Given the description of an element on the screen output the (x, y) to click on. 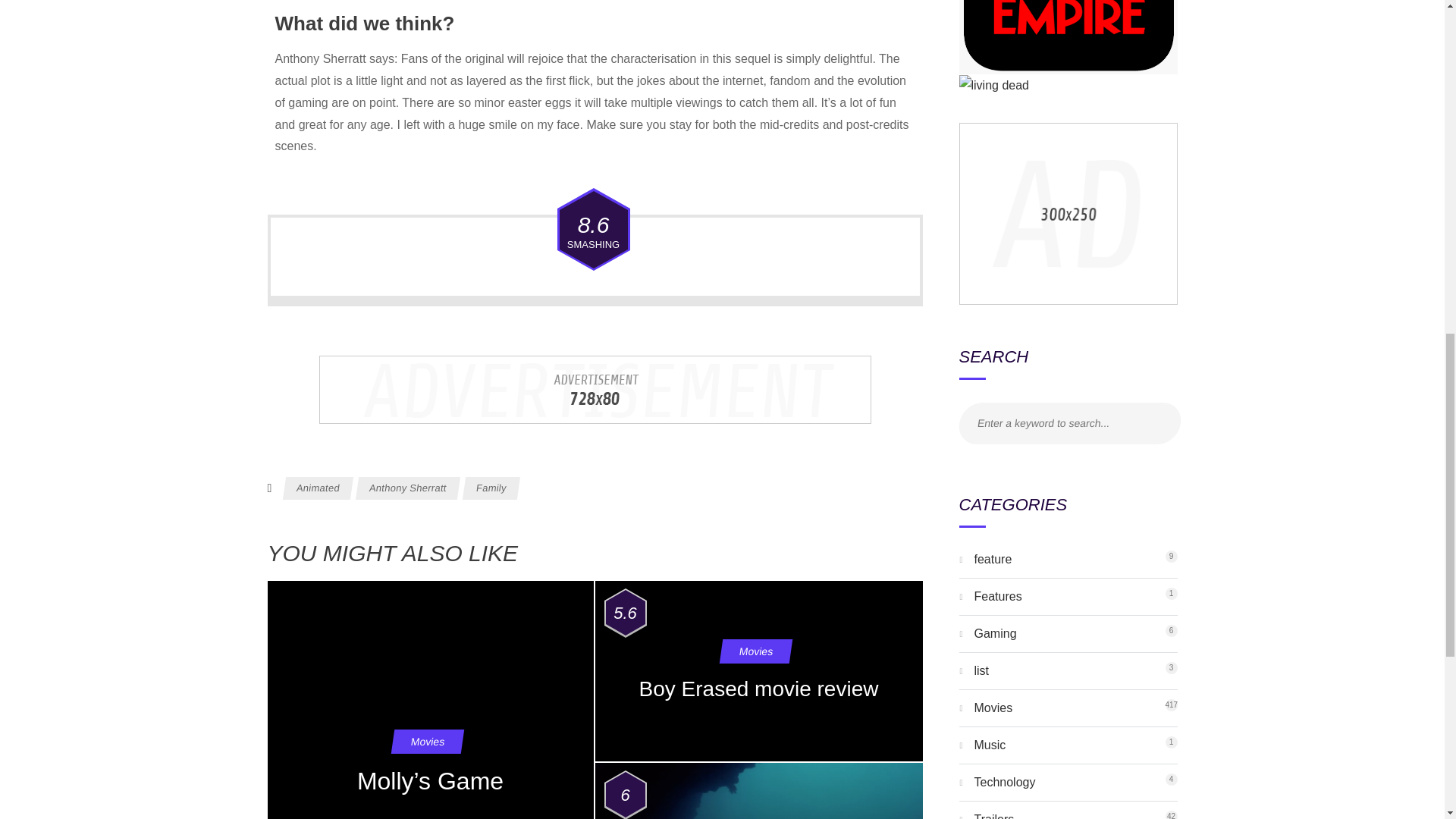
Anthony Sherratt (1004, 781)
Family (406, 487)
